Given the description of an element on the screen output the (x, y) to click on. 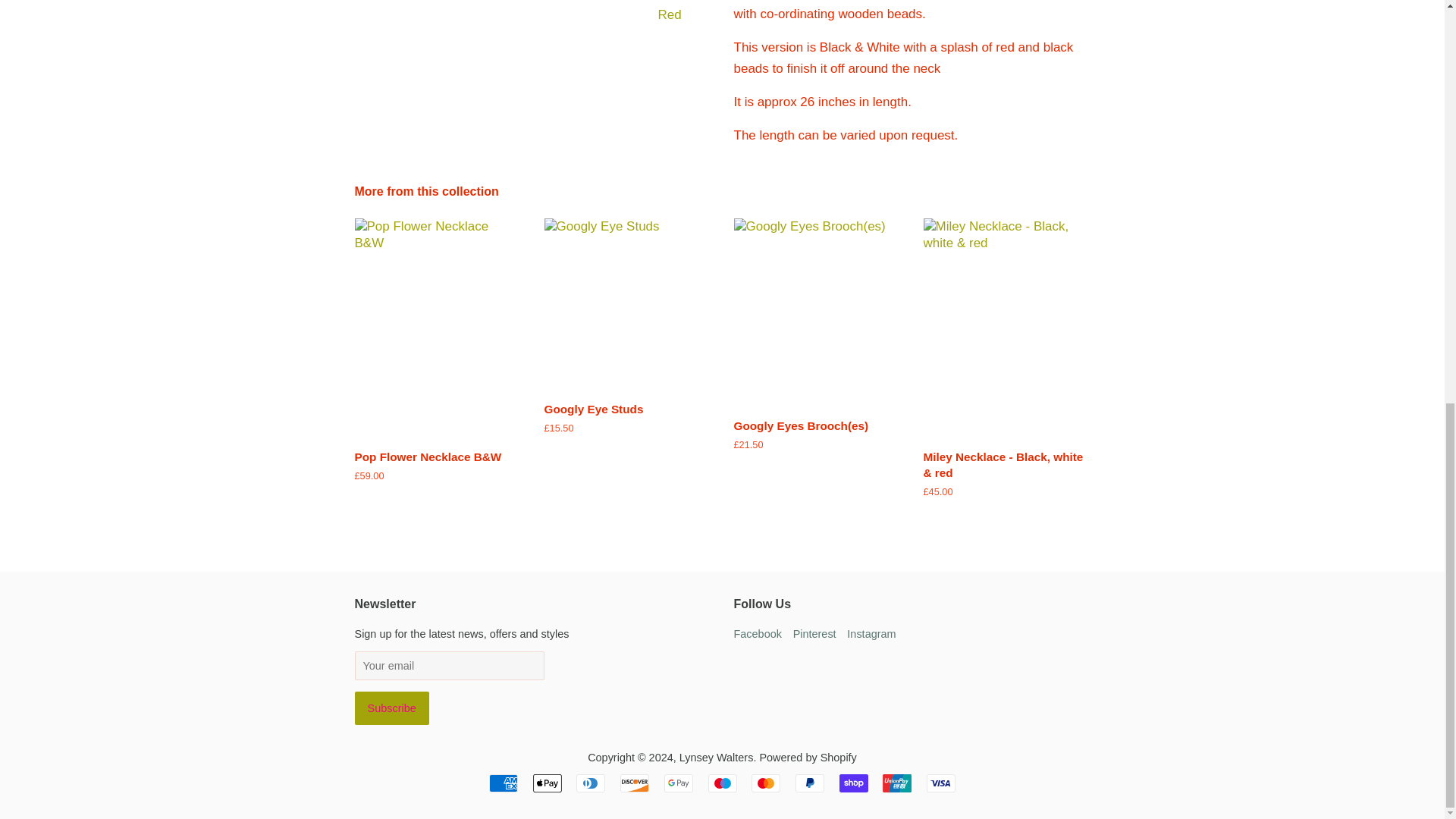
Google Pay (678, 782)
Shop Pay (853, 782)
Mastercard (765, 782)
Lynsey Walters on Facebook (757, 633)
PayPal (809, 782)
American Express (503, 782)
Visa (940, 782)
Apple Pay (547, 782)
Maestro (721, 782)
Diners Club (590, 782)
Discover (634, 782)
Subscribe (392, 707)
Lynsey Walters on Instagram (871, 633)
Union Pay (896, 782)
Lynsey Walters on Pinterest (814, 633)
